Given the description of an element on the screen output the (x, y) to click on. 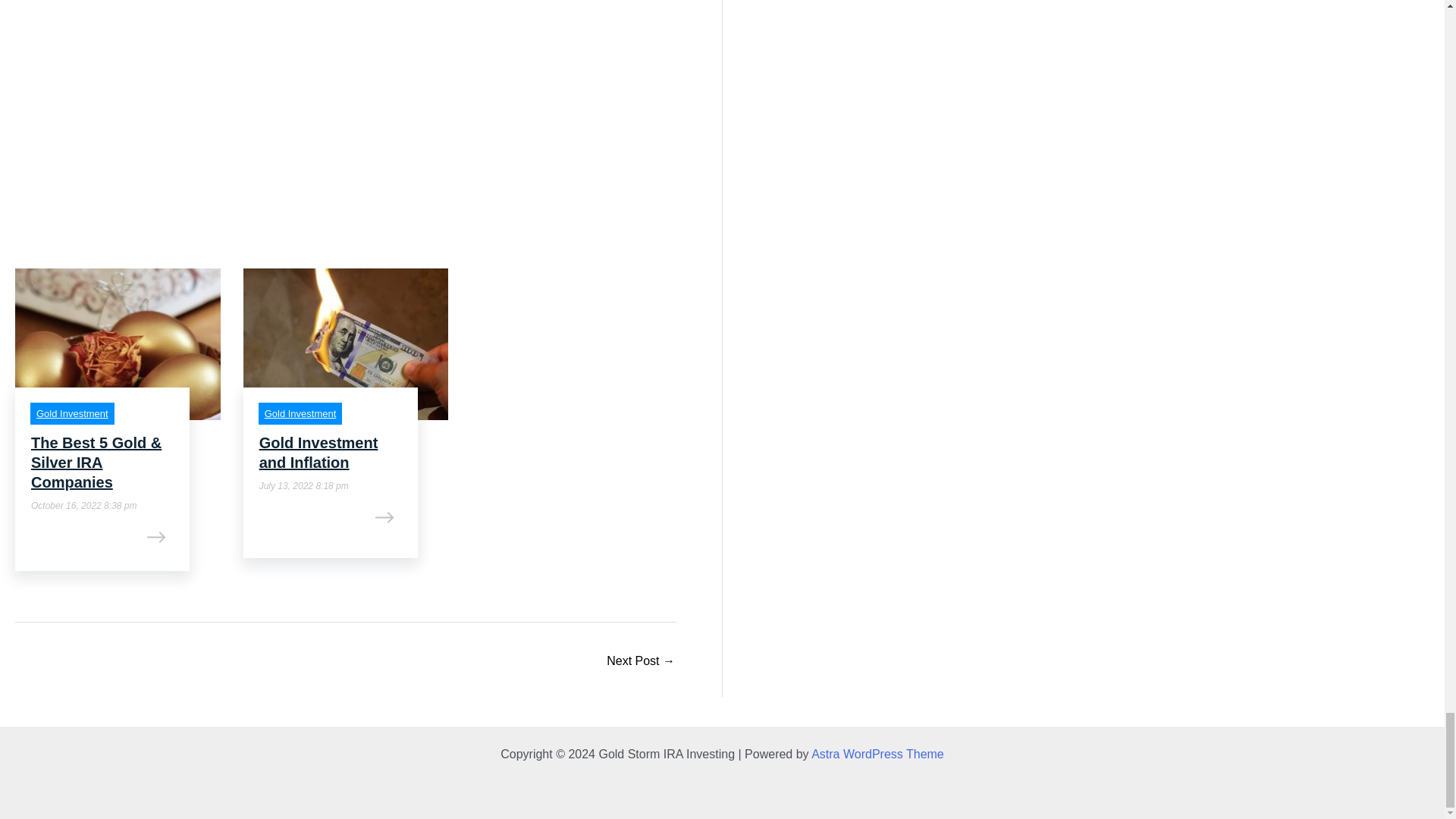
Gold Investment and Inflation (641, 662)
Gold Investment and Inflation (318, 452)
Gold Investment (300, 413)
Gold Investment (71, 413)
Gold Investment (300, 413)
Gold Investment (71, 413)
Gold Investment and Inflation (318, 452)
